Given the description of an element on the screen output the (x, y) to click on. 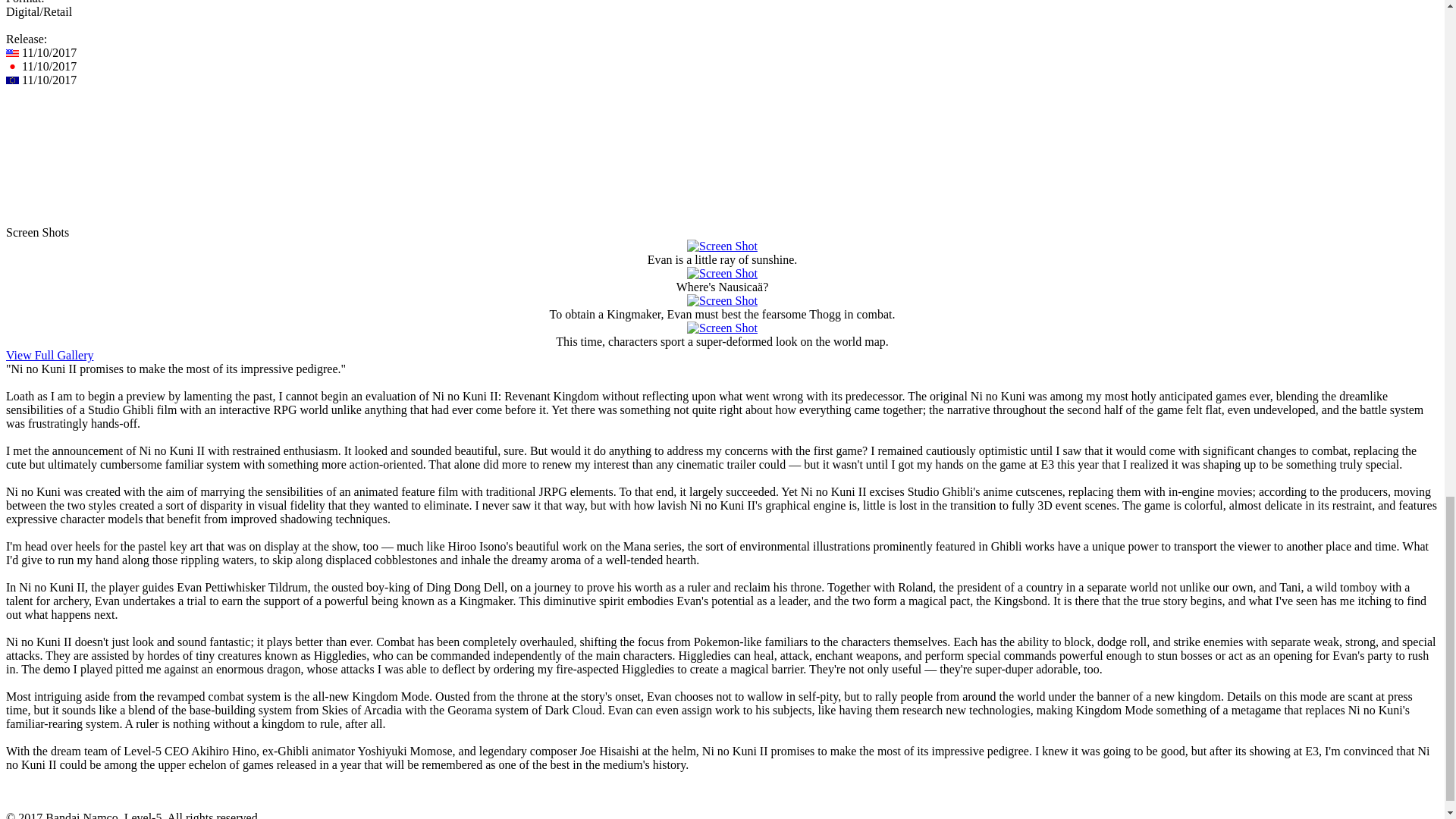
View Full Gallery (49, 354)
Pre-order at Amazon.com (71, 147)
